Given the description of an element on the screen output the (x, y) to click on. 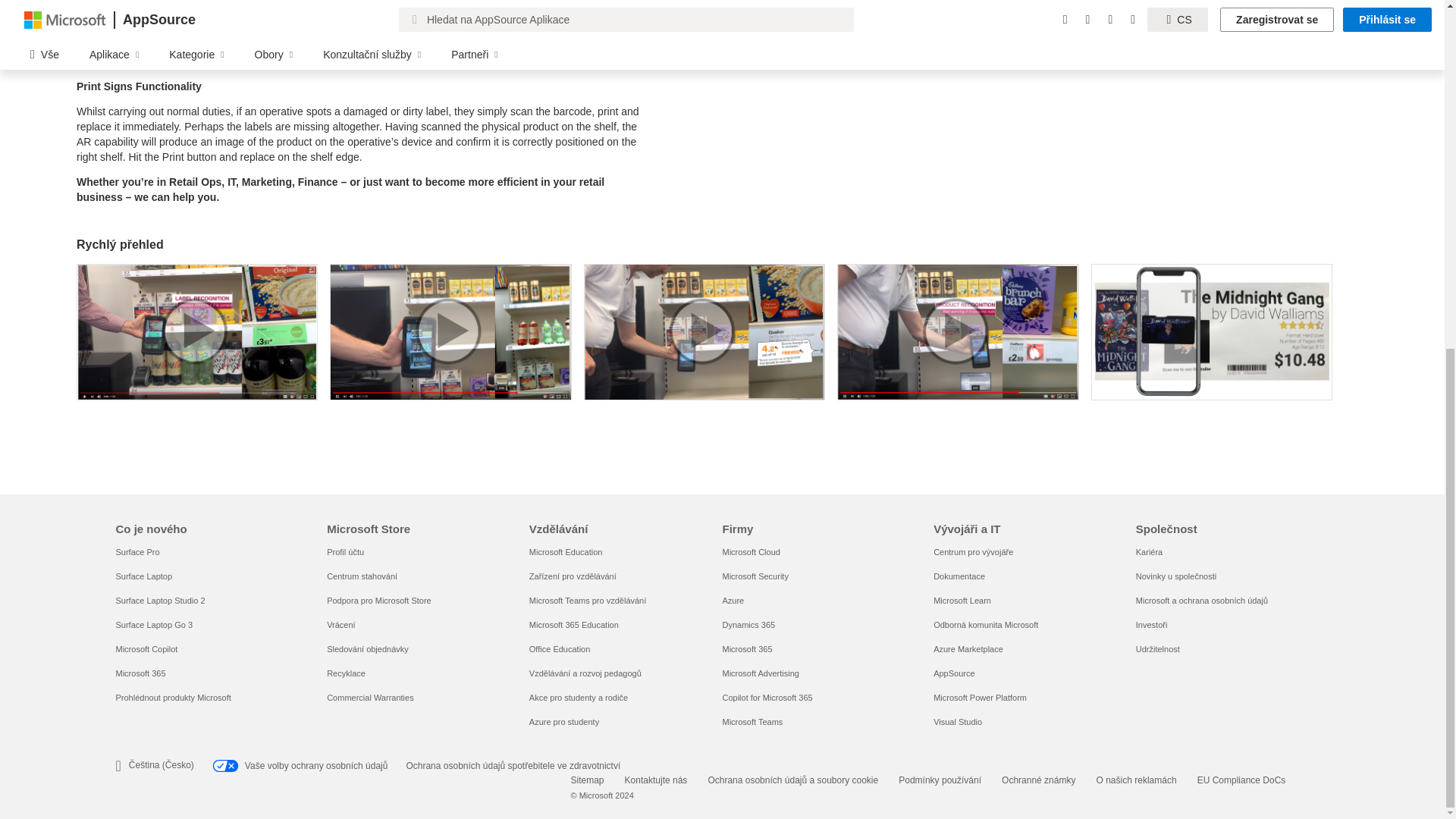
Microsoft Education (565, 551)
Surface Pro (136, 551)
Recyklace (345, 673)
Microsoft 365 (140, 673)
Podpora pro Microsoft Store (378, 600)
Surface Laptop (143, 575)
Commercial Warranties (369, 696)
Surface Laptop Go 3 (153, 624)
Surface Laptop Studio 2 (160, 600)
Microsoft Copilot (146, 648)
